Given the description of an element on the screen output the (x, y) to click on. 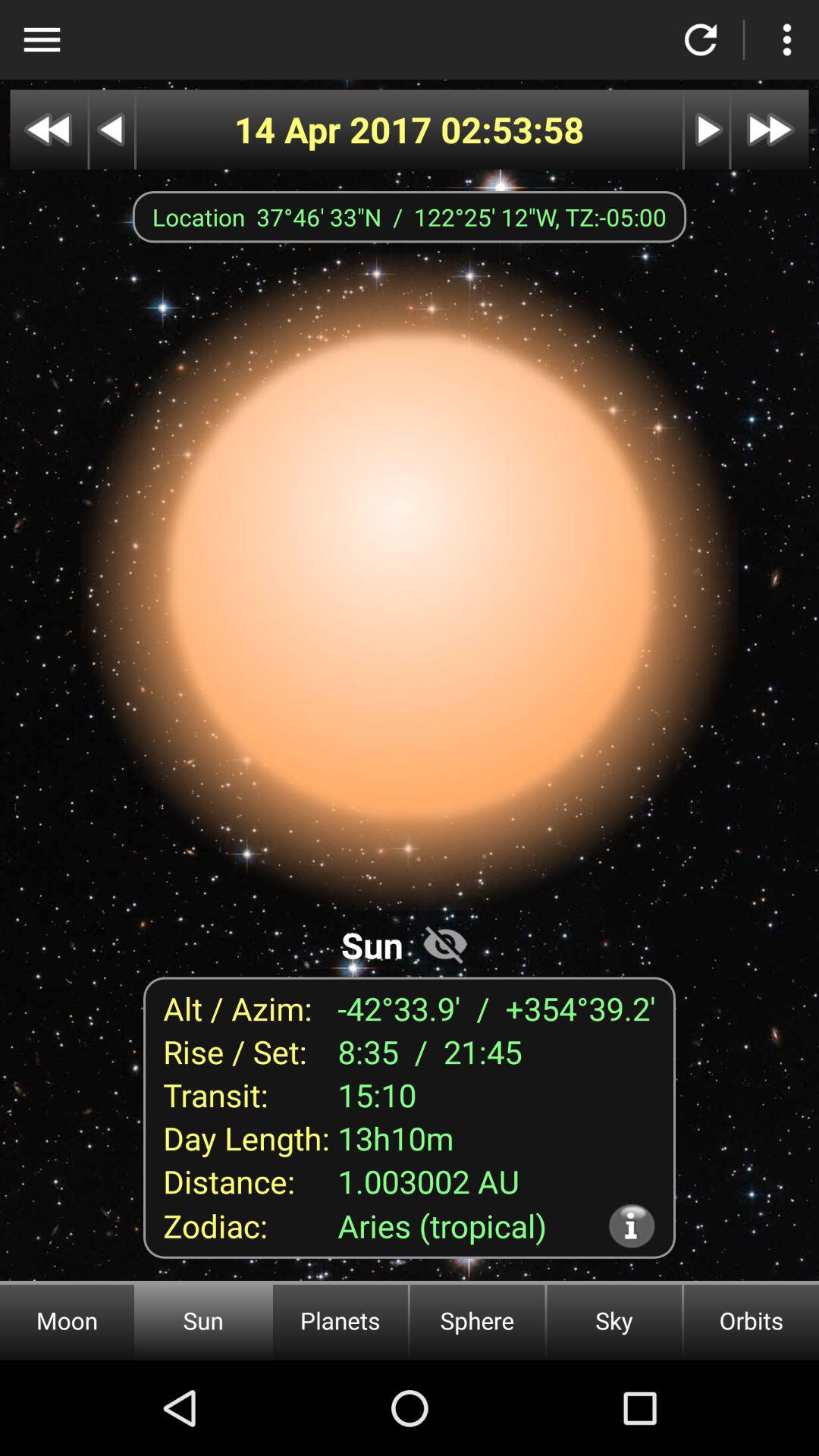
rewind (111, 129)
